Given the description of an element on the screen output the (x, y) to click on. 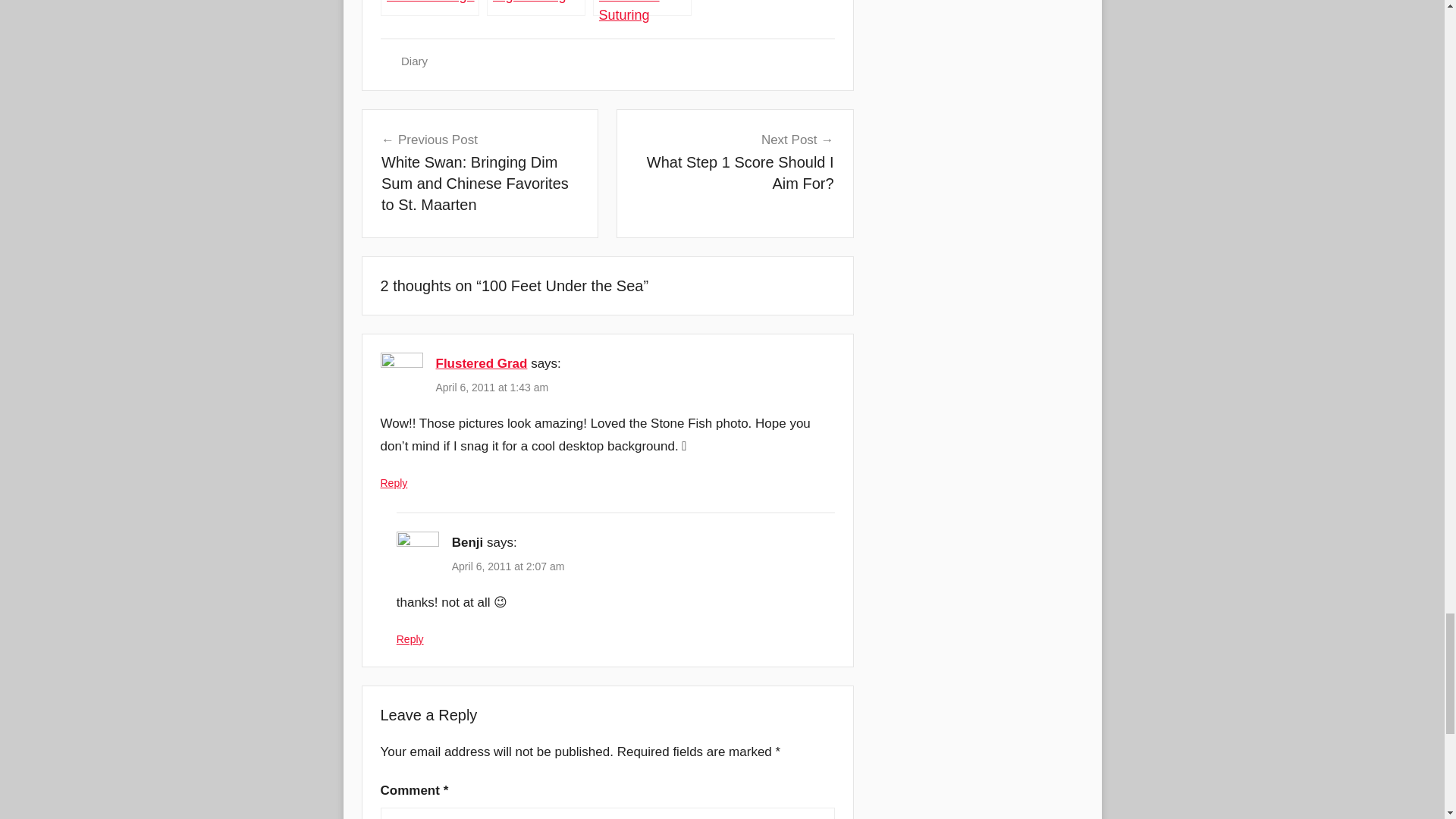
Night Diving (535, 7)
Scuba Diving!! (429, 7)
Advanced Suturing Workshop!!! (641, 7)
